Given the description of an element on the screen output the (x, y) to click on. 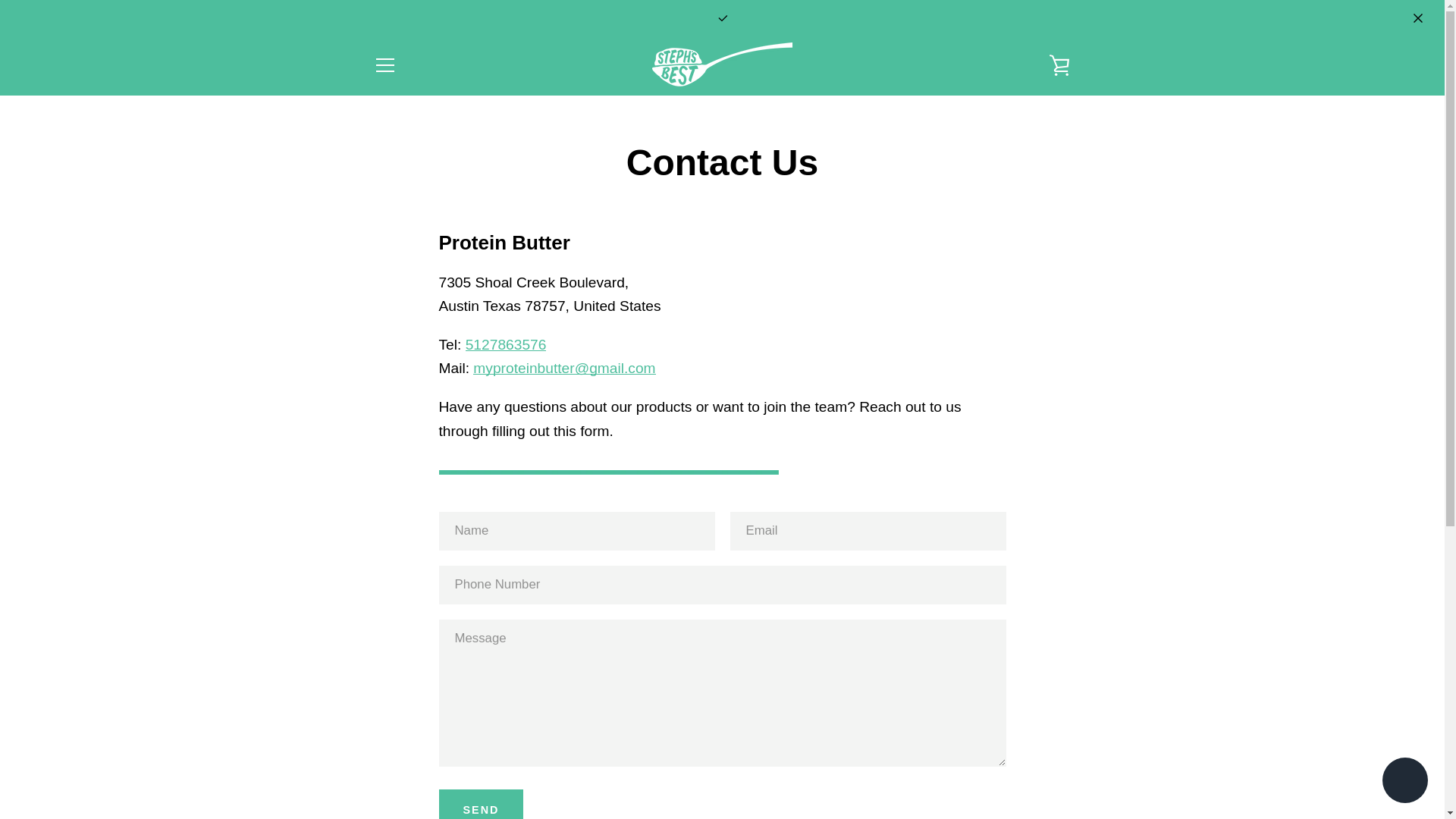
American Express (883, 754)
SEARCH (397, 516)
Google Pay (1057, 754)
Meta Pay (1022, 754)
Apple Pay (918, 754)
SHIPPING POLICY (426, 643)
Mastercard (918, 778)
Send (480, 804)
VIEW CART (1059, 64)
